Given the description of an element on the screen output the (x, y) to click on. 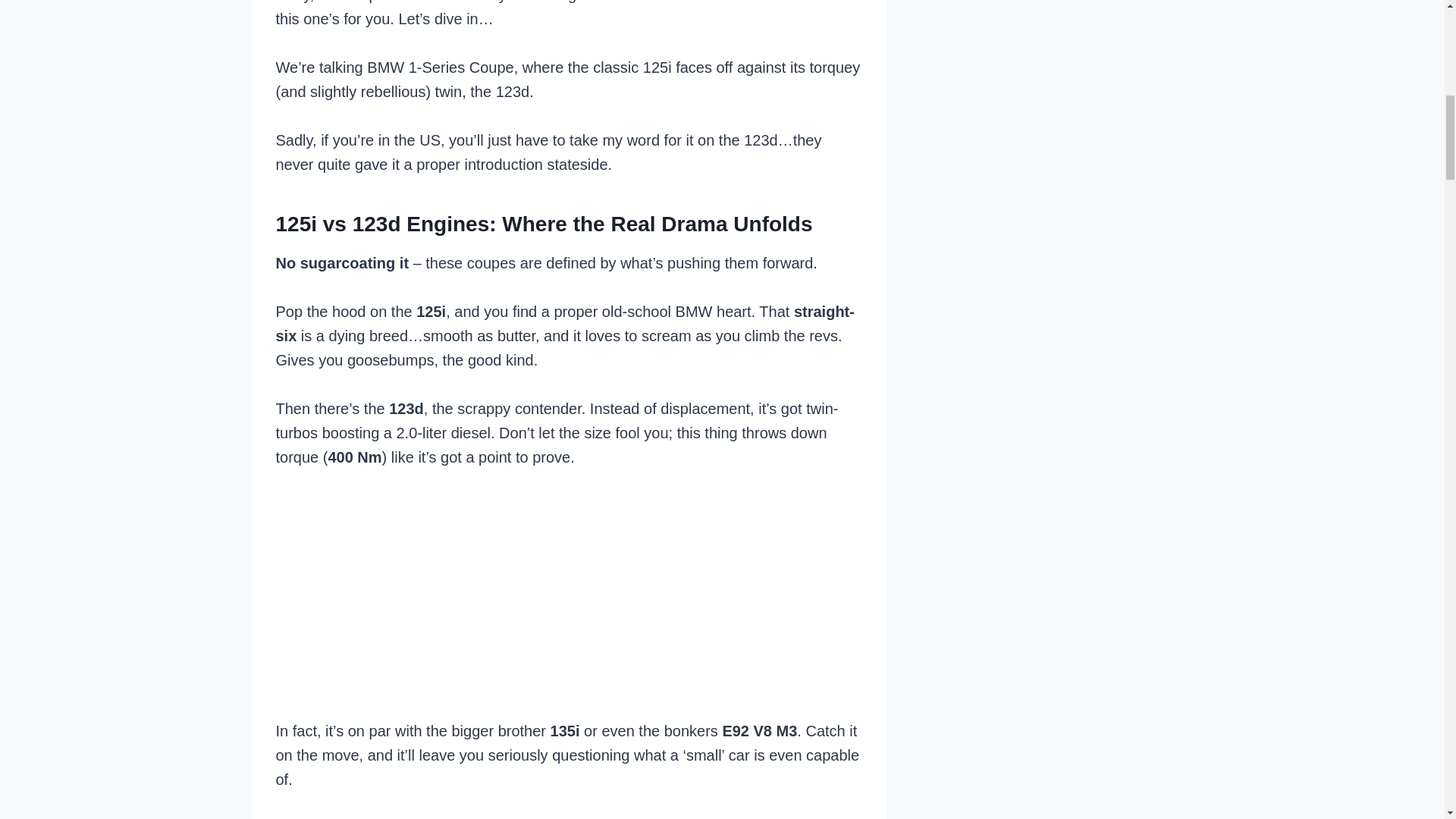
Advertisement (568, 599)
